Given the description of an element on the screen output the (x, y) to click on. 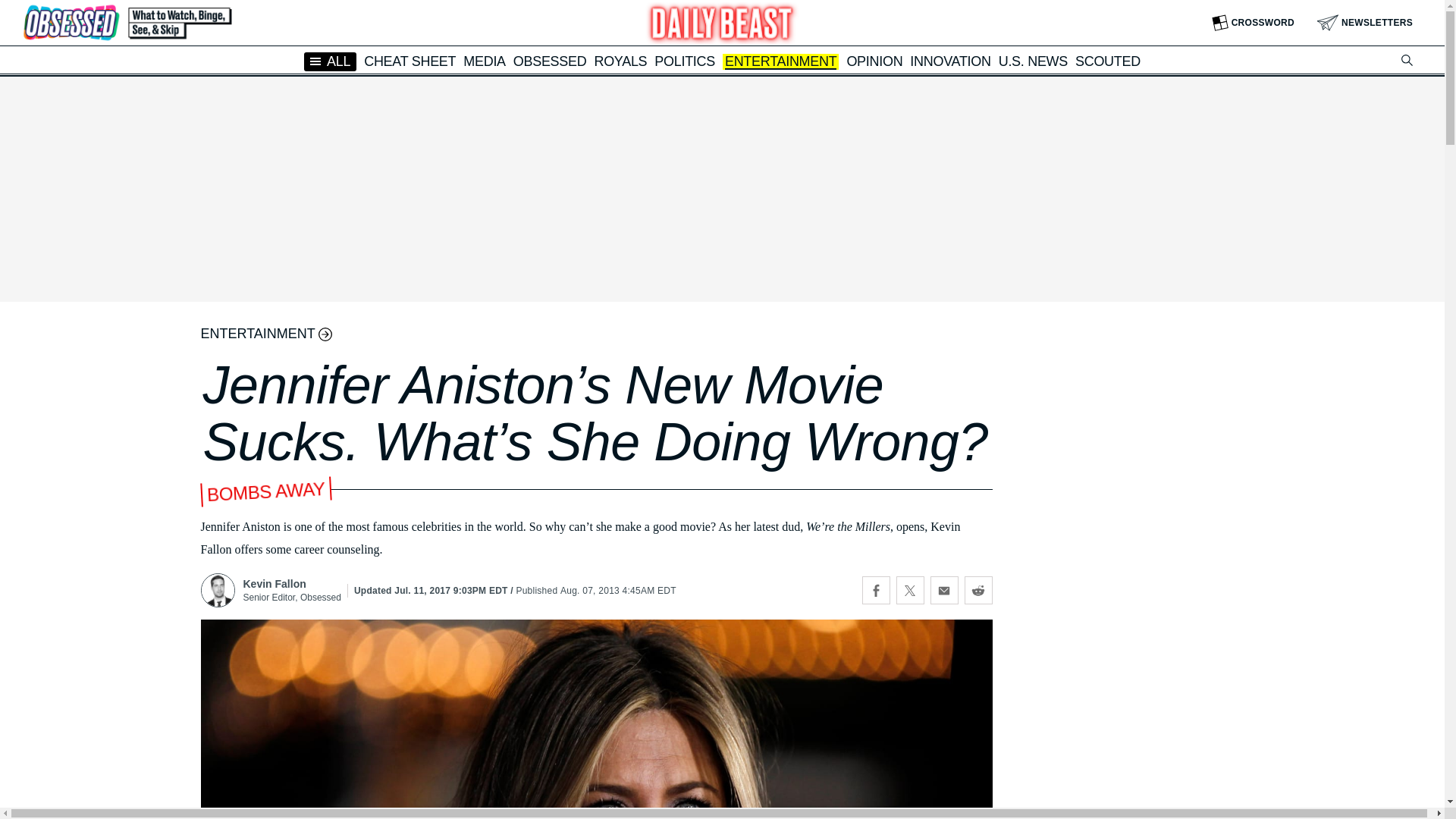
ROYALS (620, 60)
CROSSWORD (1252, 22)
U.S. NEWS (1032, 60)
OBSESSED (549, 60)
OPINION (873, 60)
ENTERTAINMENT (780, 61)
MEDIA (484, 60)
SCOUTED (1107, 60)
CHEAT SHEET (409, 60)
POLITICS (683, 60)
